Given the description of an element on the screen output the (x, y) to click on. 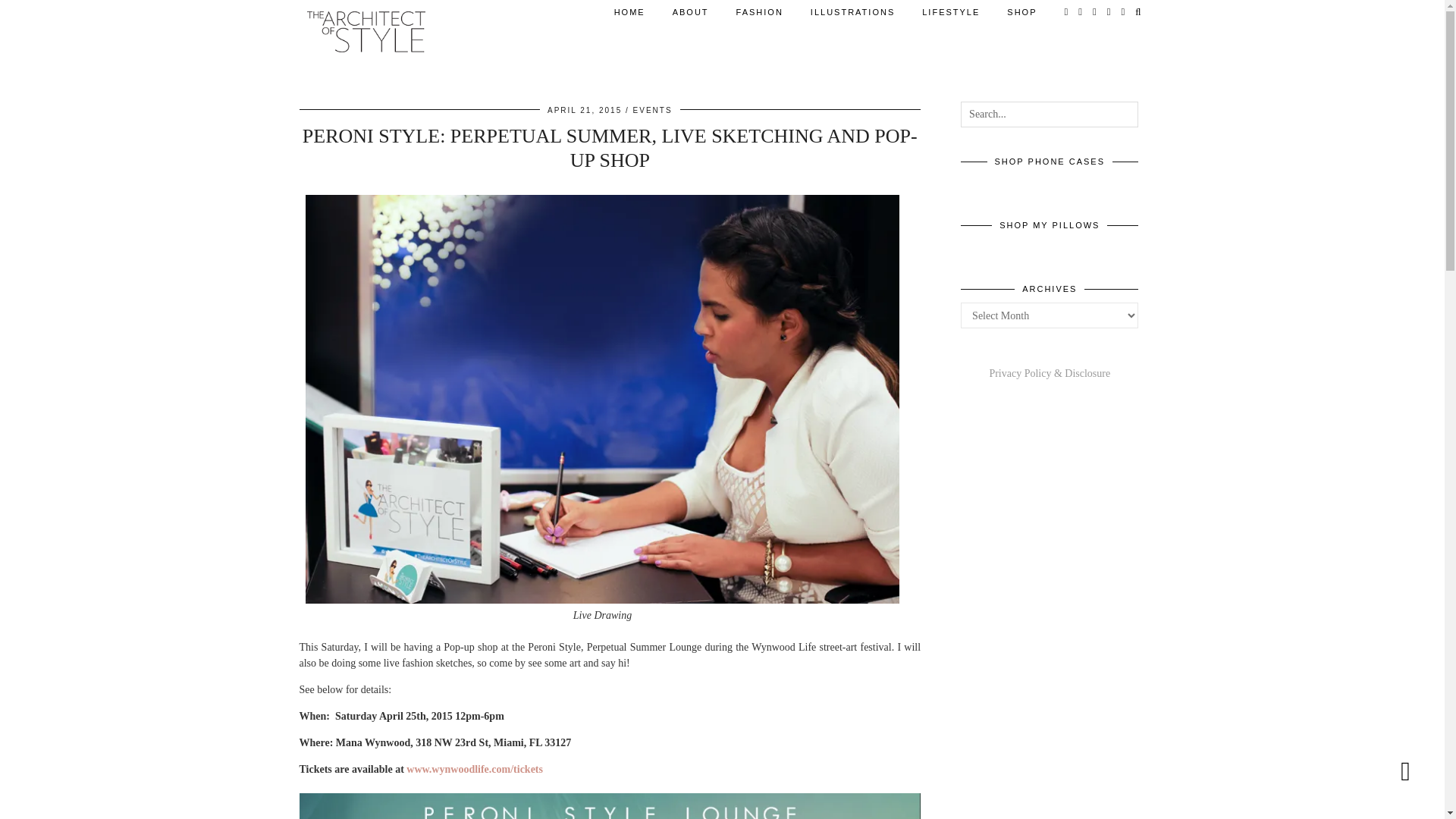
EVENTS (652, 110)
SHOP (1020, 12)
LIFESTYLE (950, 12)
ILLUSTRATIONS (852, 12)
The Architect of Style (365, 31)
HOME (629, 12)
FASHION (759, 12)
ABOUT (690, 12)
